Given the description of an element on the screen output the (x, y) to click on. 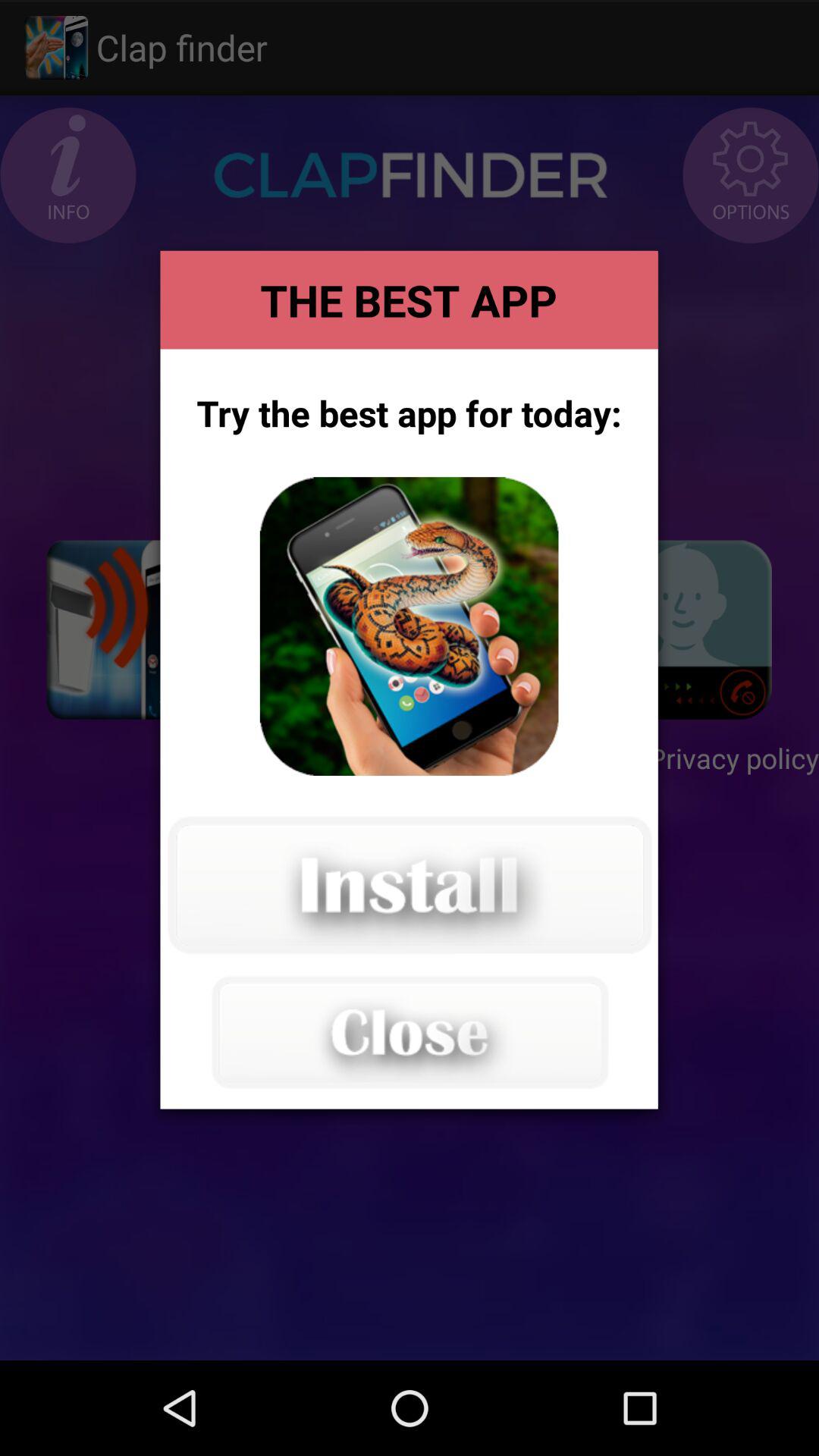
install app (408, 626)
